Given the description of an element on the screen output the (x, y) to click on. 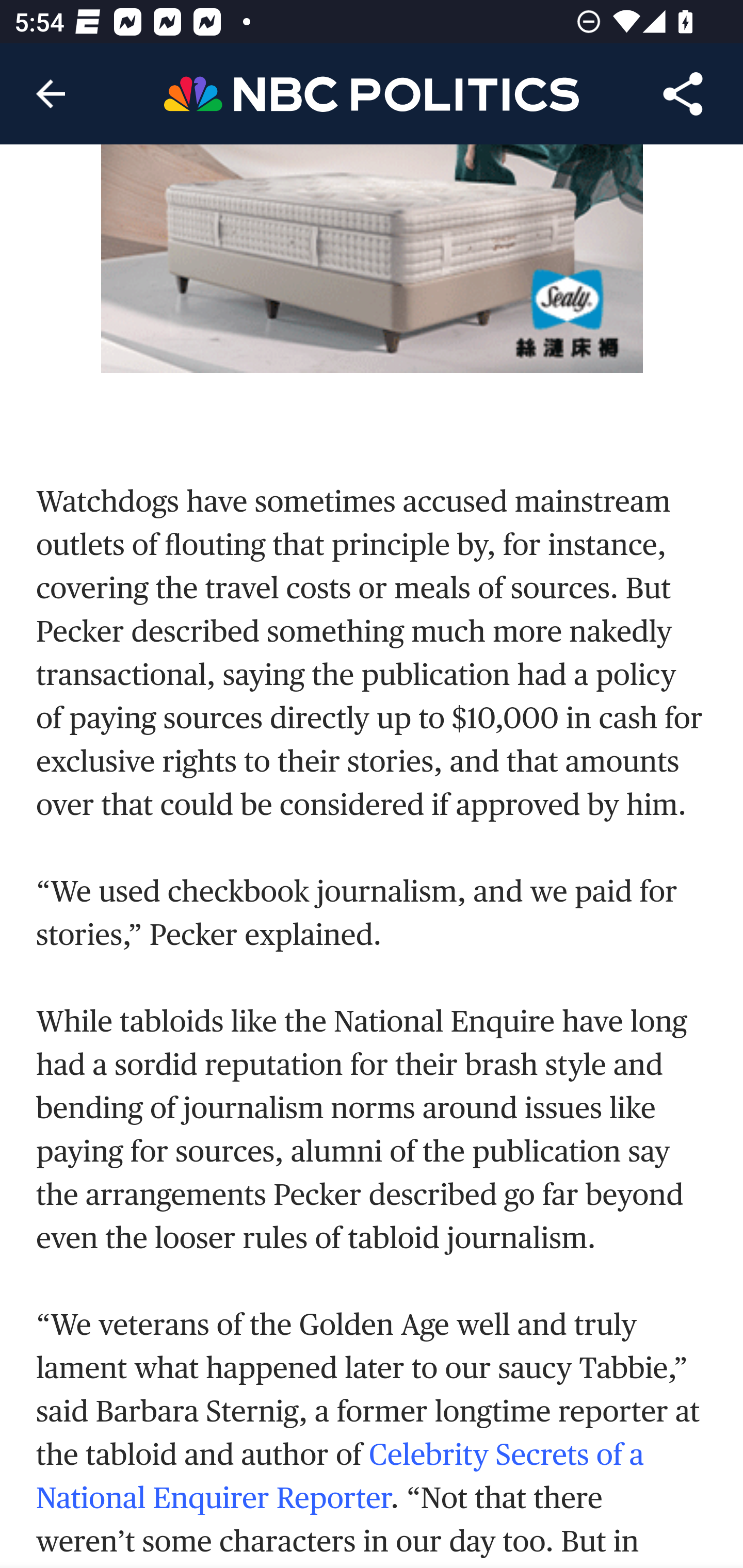
Navigate up (50, 93)
Share Article, button (683, 94)
Header, NBC Politics (371, 93)
icgBeteWSZFMbKXZTb0bmADIM%23300x500 (372, 259)
Celebrity Secrets of a National Enquirer Reporter (340, 1476)
